Given the description of an element on the screen output the (x, y) to click on. 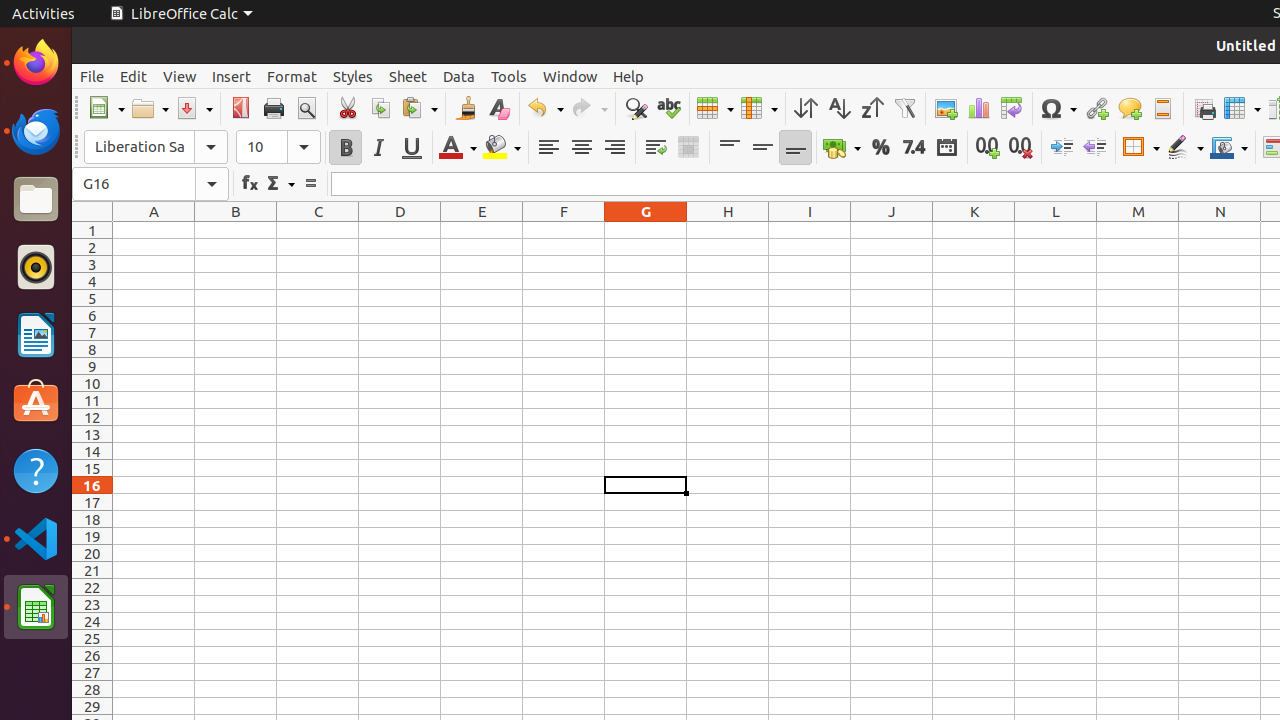
Chart Element type: push-button (978, 108)
Freeze Rows and Columns Element type: push-button (1242, 108)
Save Element type: push-button (194, 108)
Undo Element type: push-button (545, 108)
Symbol Element type: push-button (1058, 108)
